Given the description of an element on the screen output the (x, y) to click on. 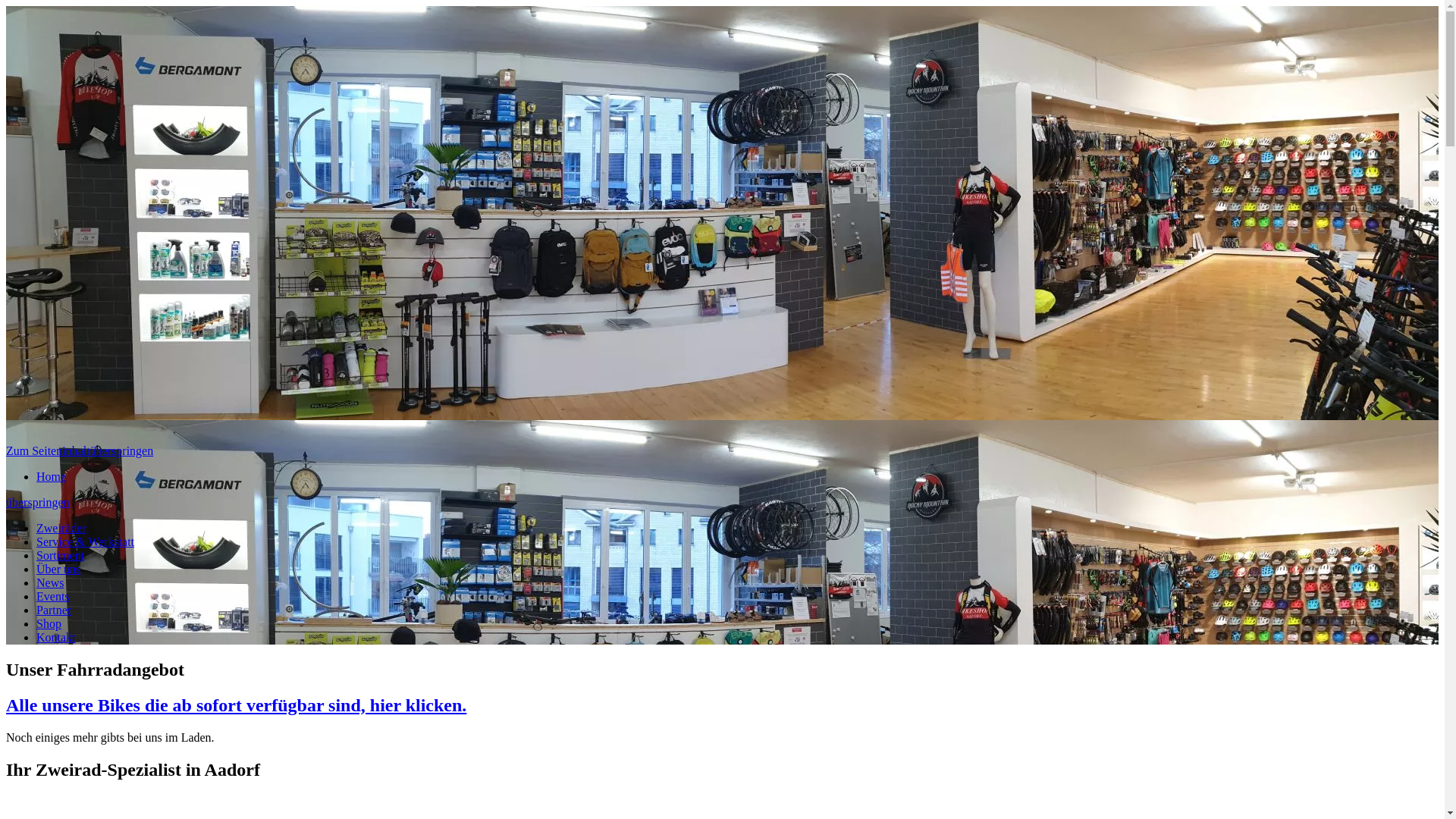
Zum Seiteninhalt Element type: text (48, 450)
News Element type: text (49, 582)
Bikeshop Aadorf - Ihr Zweirad Spezialist Element type: hover (223, 223)
Sortiment Element type: text (60, 555)
Events Element type: text (52, 595)
Partner Element type: text (53, 609)
Kontakt Element type: text (55, 636)
Bikeshop Aadorf - Ihr Zweirad Spezialist Element type: hover (223, 436)
Home Element type: text (50, 476)
Service & Werkstatt Element type: text (85, 541)
Shop Element type: text (48, 623)
